Given the description of an element on the screen output the (x, y) to click on. 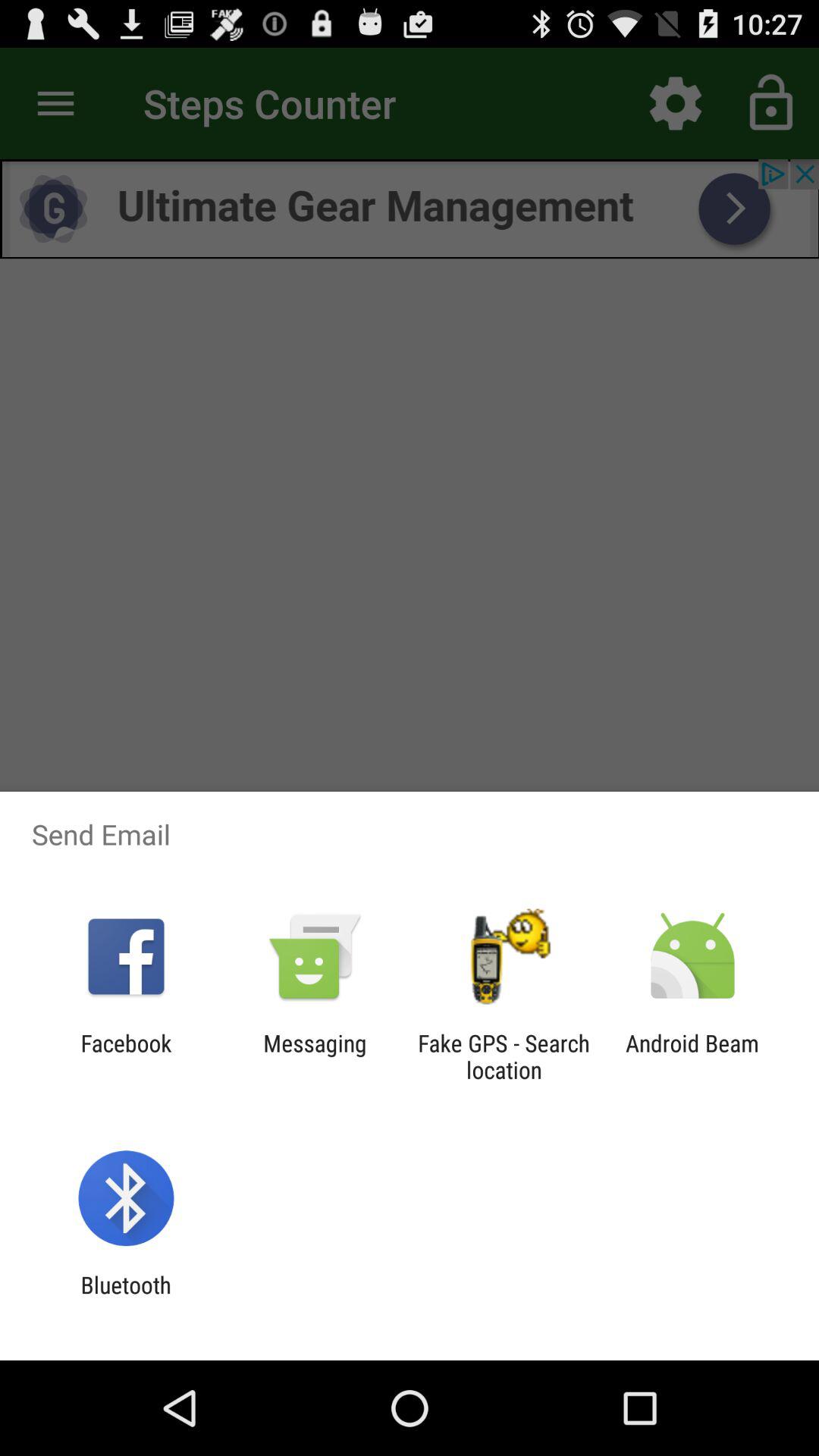
open the icon next to facebook item (314, 1056)
